Given the description of an element on the screen output the (x, y) to click on. 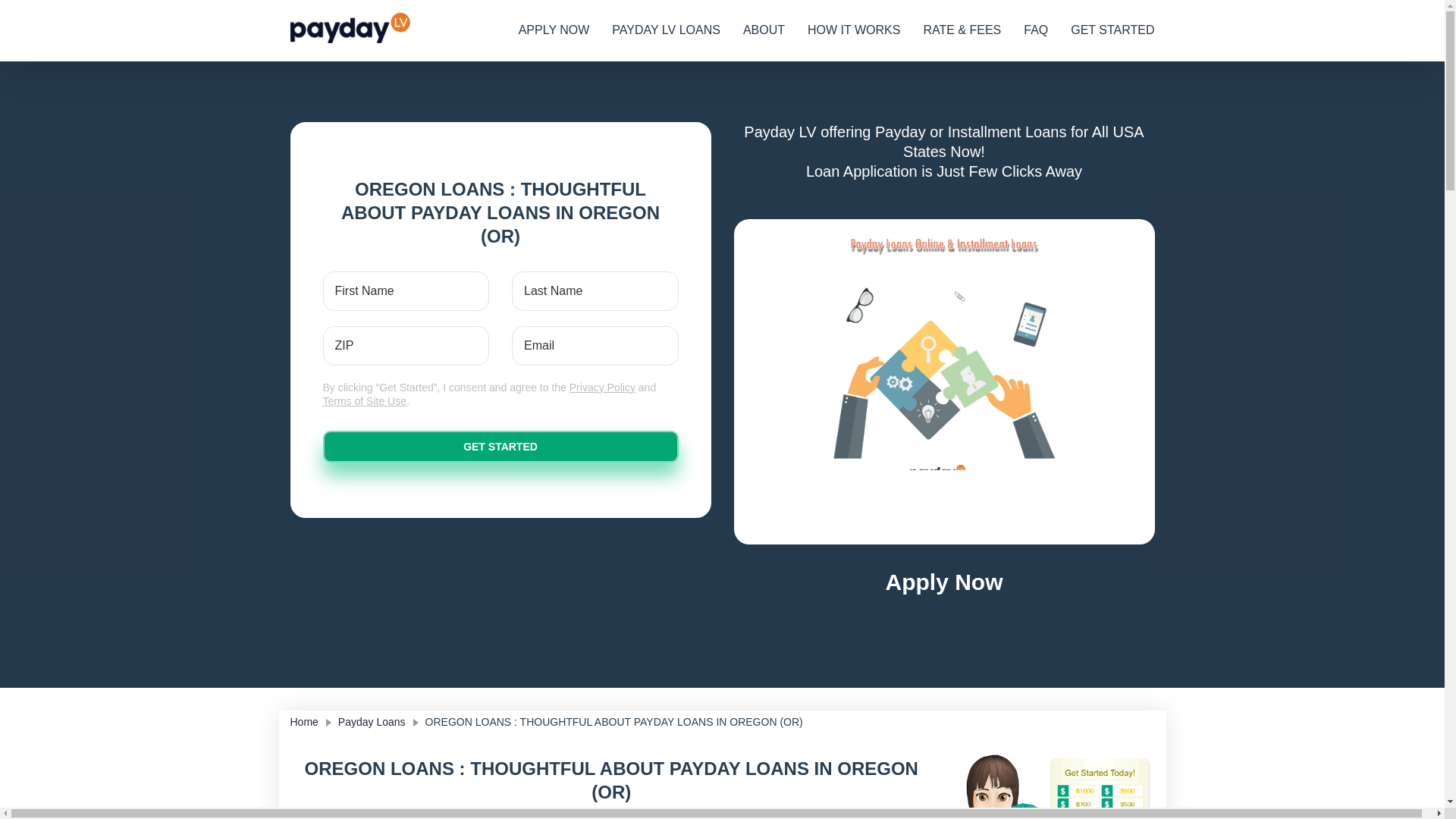
Payday Loans (363, 722)
Get Started (500, 446)
PAYDAY LV LOANS (665, 30)
Home (303, 722)
ABOUT (764, 30)
FAQ (1035, 30)
Payday Loans (363, 722)
Get Started (500, 446)
HOW IT WORKS (853, 30)
Home (303, 722)
Privacy Policy (601, 387)
GET STARTED (1112, 30)
APPLY NOW (553, 30)
Payday Loans Las Vegas (351, 30)
Terms of Site Use (364, 400)
